Given the description of an element on the screen output the (x, y) to click on. 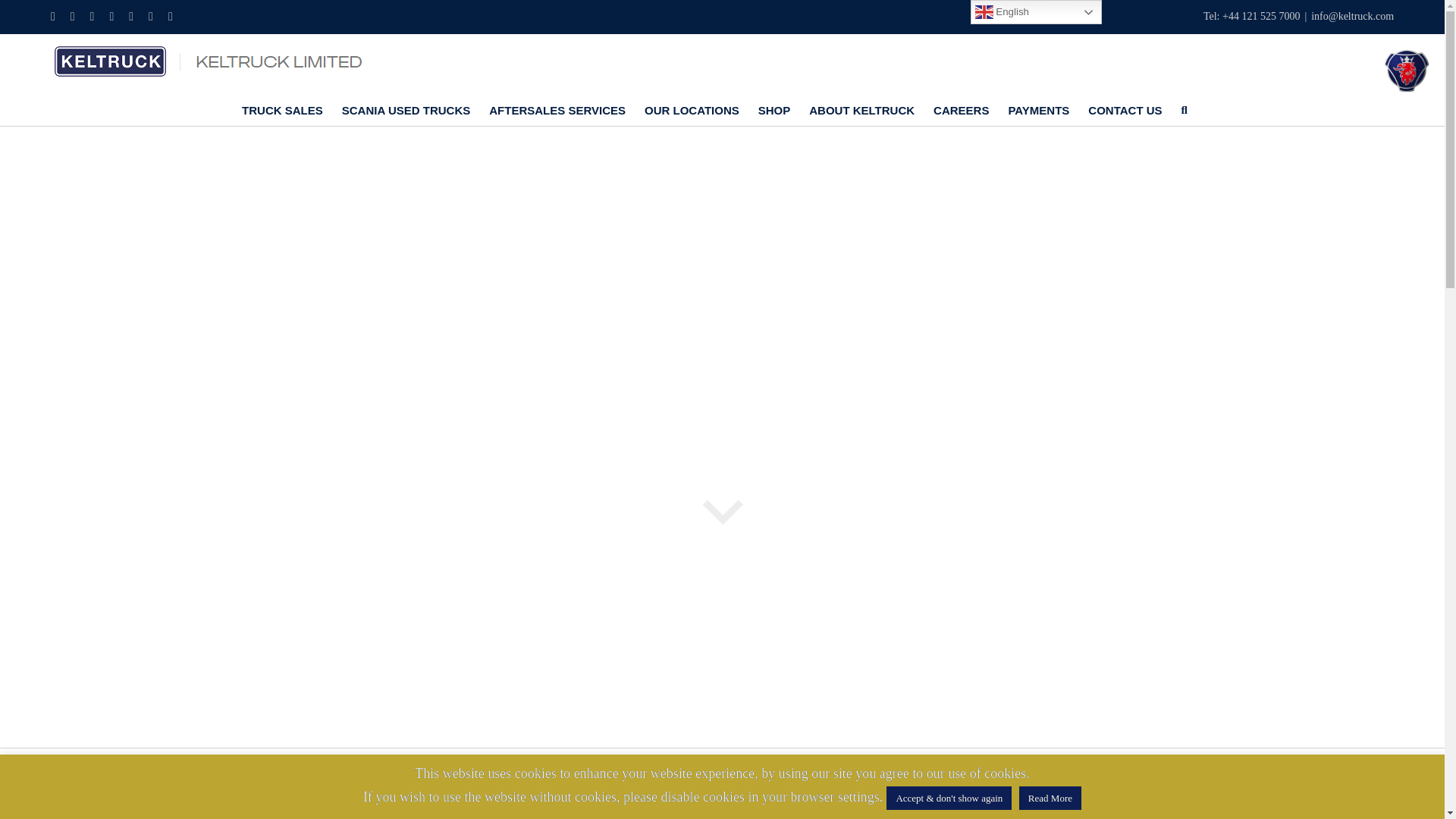
TRUCK SALES (282, 108)
